Given the description of an element on the screen output the (x, y) to click on. 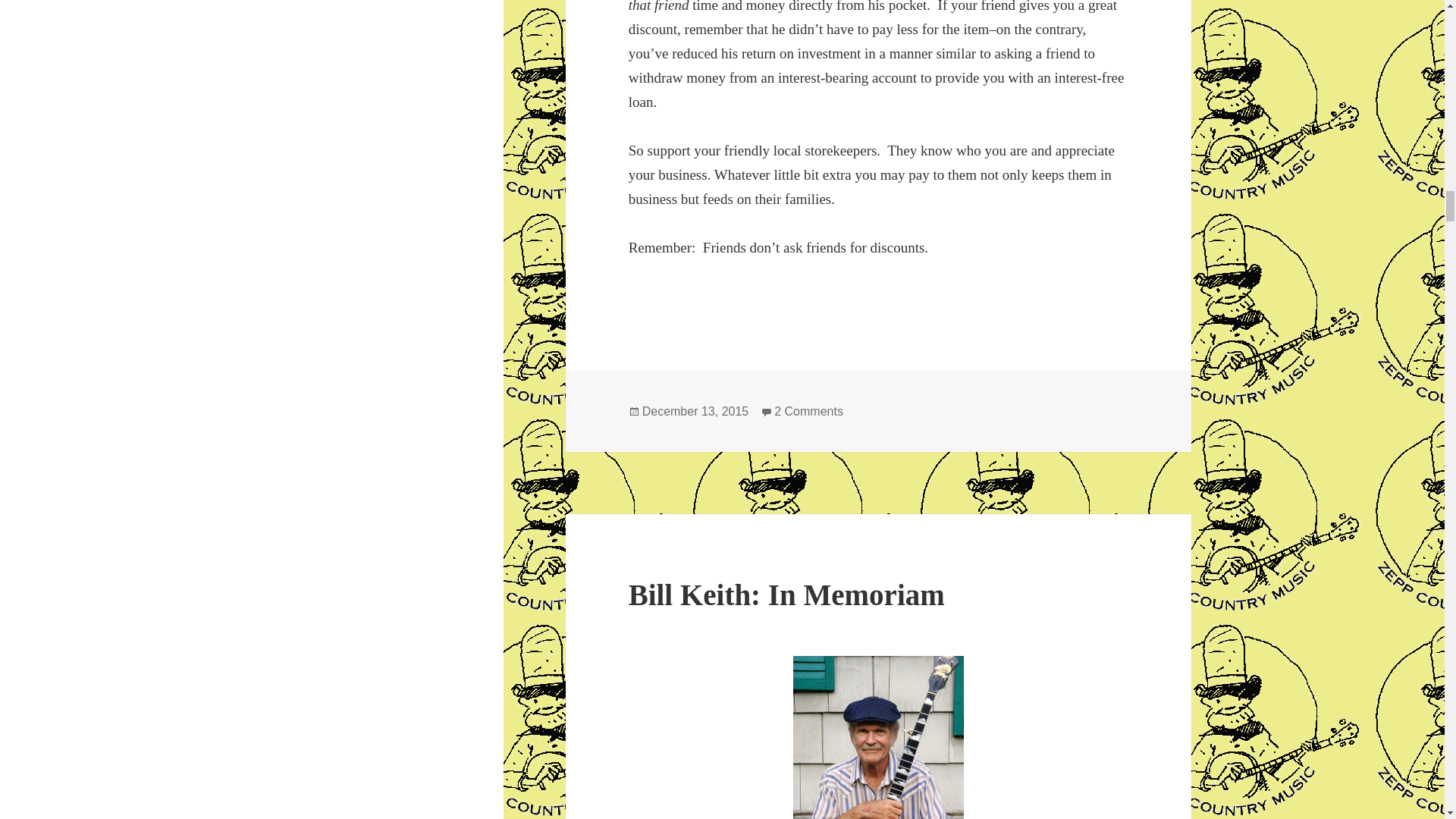
December 13, 2015 (695, 411)
